Given the description of an element on the screen output the (x, y) to click on. 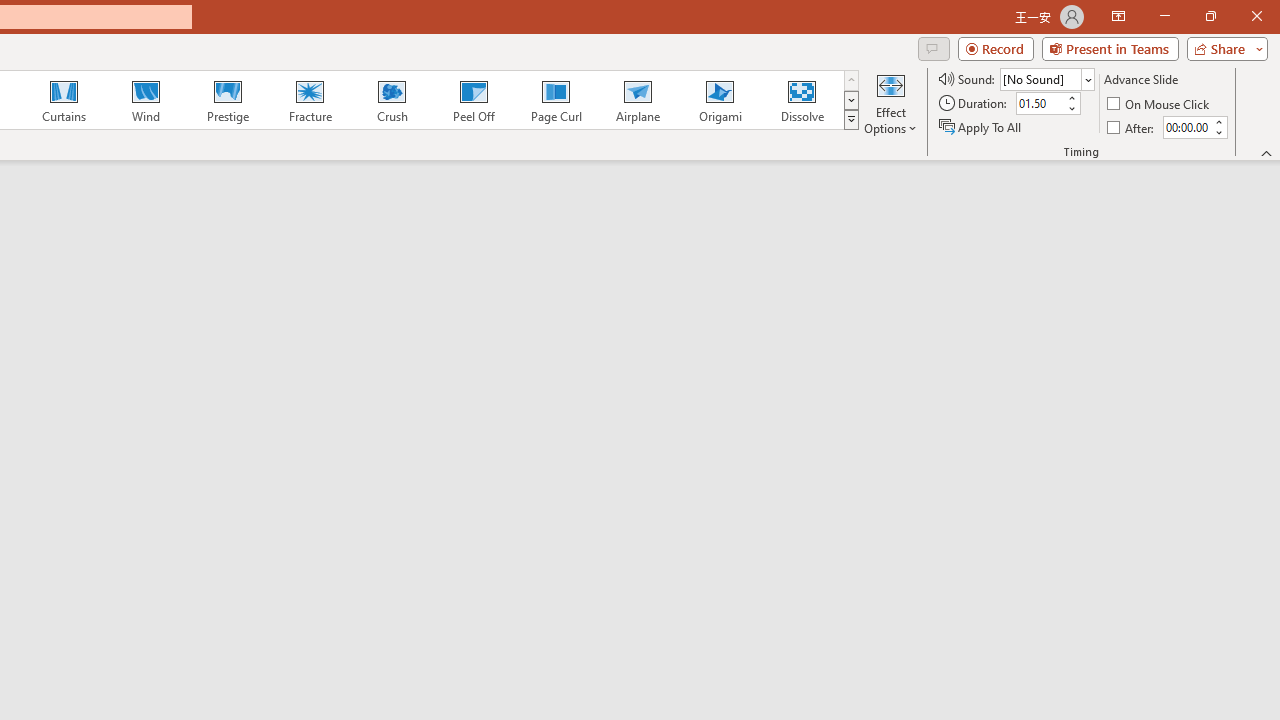
Prestige (227, 100)
Dissolve (802, 100)
After (1131, 126)
